Given the description of an element on the screen output the (x, y) to click on. 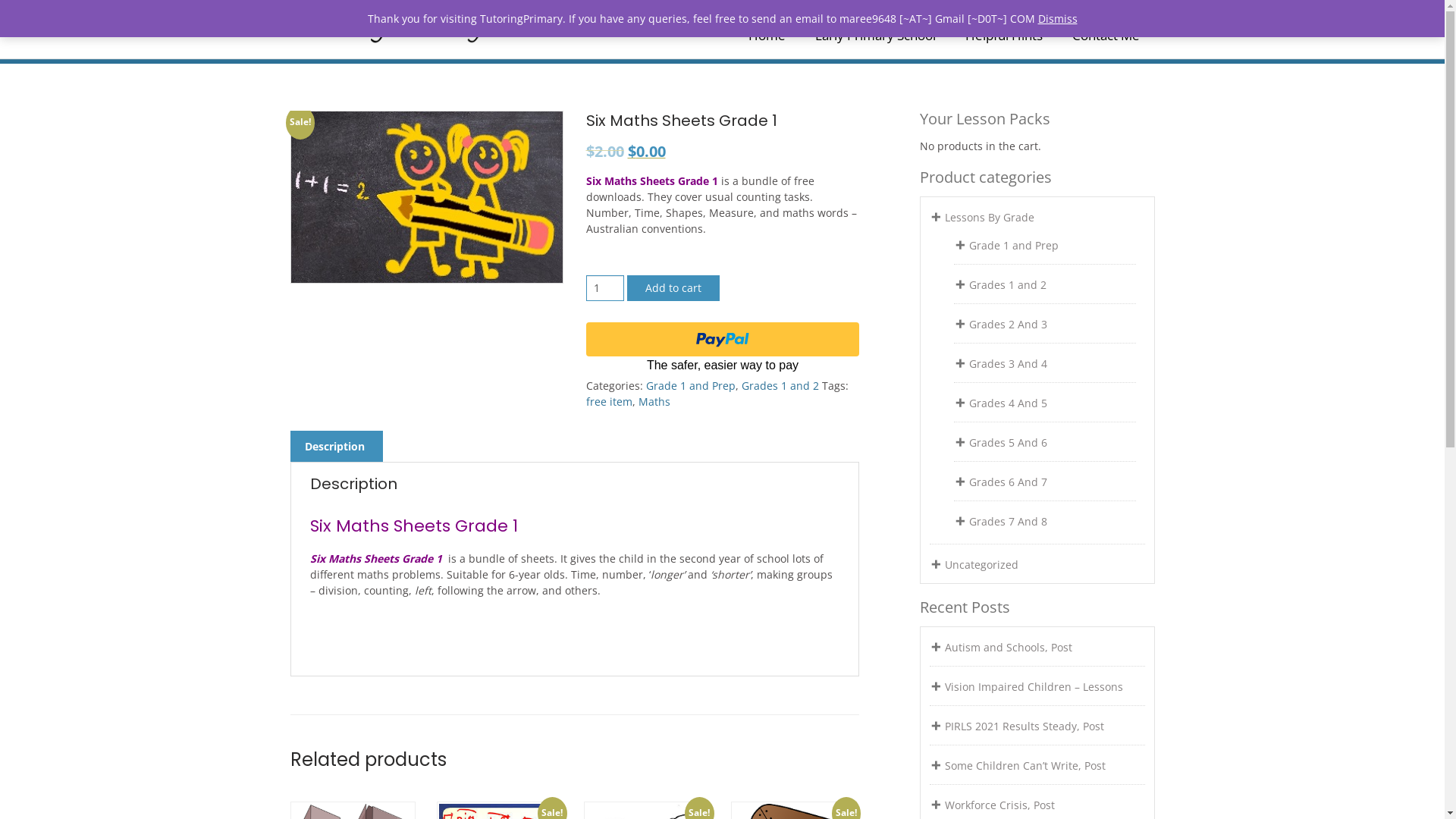
Description Element type: text (334, 445)
Grades 3 And 4 Element type: text (1008, 363)
Grades 1 and 2 Element type: text (780, 385)
Grades 7 And 8 Element type: text (1008, 521)
Home Element type: text (765, 36)
Grades 6 And 7 Element type: text (1008, 481)
Helpful Hints Element type: text (1002, 36)
free item Element type: text (608, 401)
Lessons By Grade Element type: text (989, 217)
back-to-school-2629361_960_720 Element type: hover (425, 196)
Autism and Schools, Post Element type: text (1008, 647)
Add to cart Element type: text (673, 288)
Uncategorized Element type: text (981, 564)
Maths Element type: text (654, 401)
Dismiss Element type: text (1056, 18)
Grades 2 And 3 Element type: text (1008, 324)
Early Primary School Element type: text (874, 36)
Workforce Crisis, Post Element type: text (999, 804)
PayPal Element type: hover (721, 347)
Grades 5 And 6 Element type: text (1008, 442)
Grade 1 and Prep Element type: text (690, 385)
PIRLS 2021 Results Steady, Post Element type: text (1024, 726)
Grades 1 and 2 Element type: text (1007, 284)
Grades 4 And 5 Element type: text (1008, 403)
Grade 1 and Prep Element type: text (1013, 245)
Contact Me Element type: text (1105, 36)
